Given the description of an element on the screen output the (x, y) to click on. 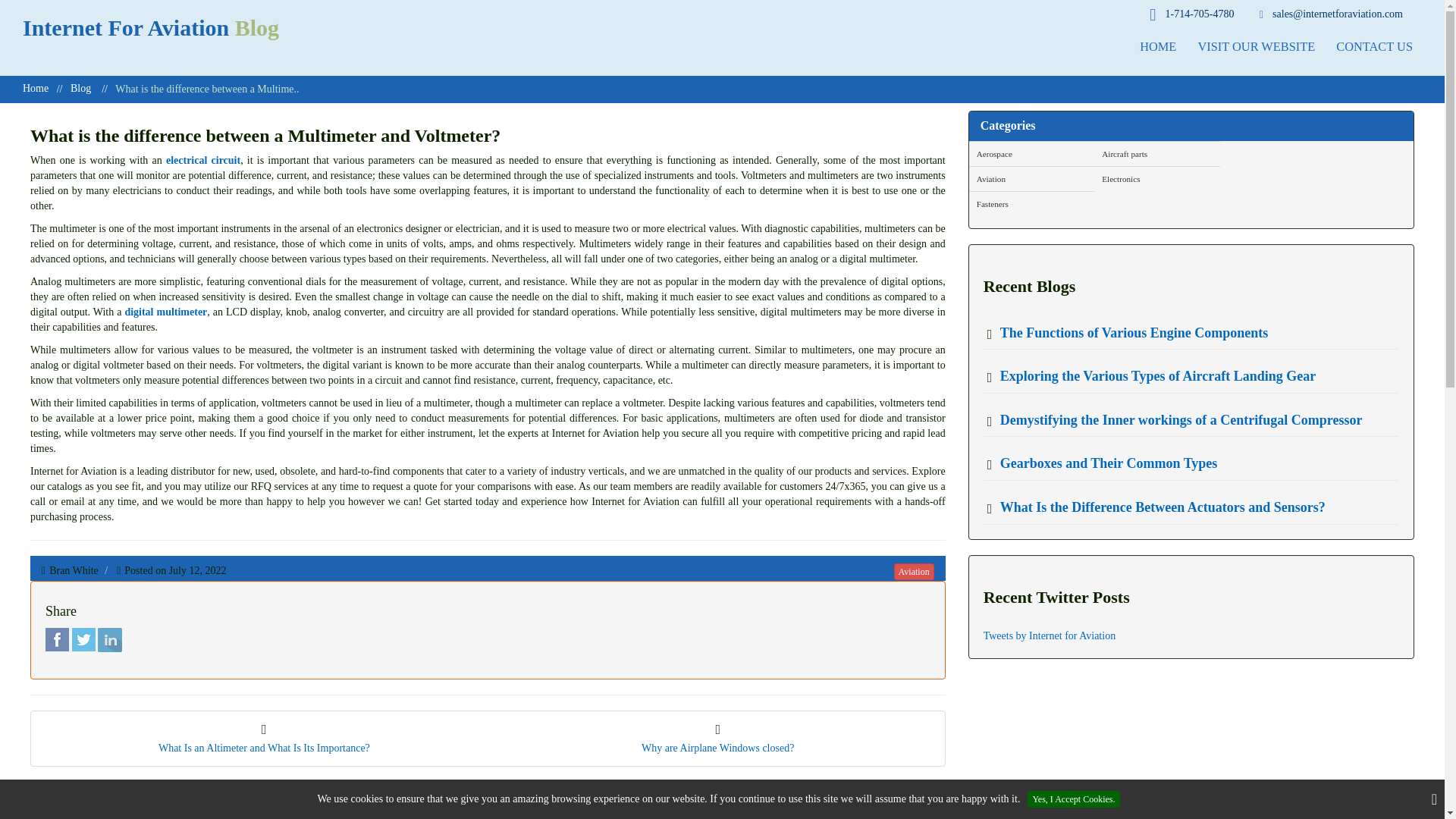
Fasteners (1031, 203)
Demystifying the Inner workings of a Centrifugal Compressor (1175, 420)
Aviation (913, 571)
  1-714-705-4780 (1191, 15)
Tweets by Internet for Aviation (1050, 635)
Blog (79, 88)
What Is the Difference Between Actuators and Sensors? (1156, 508)
What Is an Altimeter and What Is Its Importance? (264, 738)
VISIT OUR WEBSITE (1255, 46)
digital multimeter (164, 311)
Exploring the Various Types of Aircraft Landing Gear (1152, 376)
Gearboxes and Their Common Types (1102, 463)
HOME (1158, 46)
Why are Airplane Windows closed? (718, 738)
CONTACT US (1374, 46)
